Given the description of an element on the screen output the (x, y) to click on. 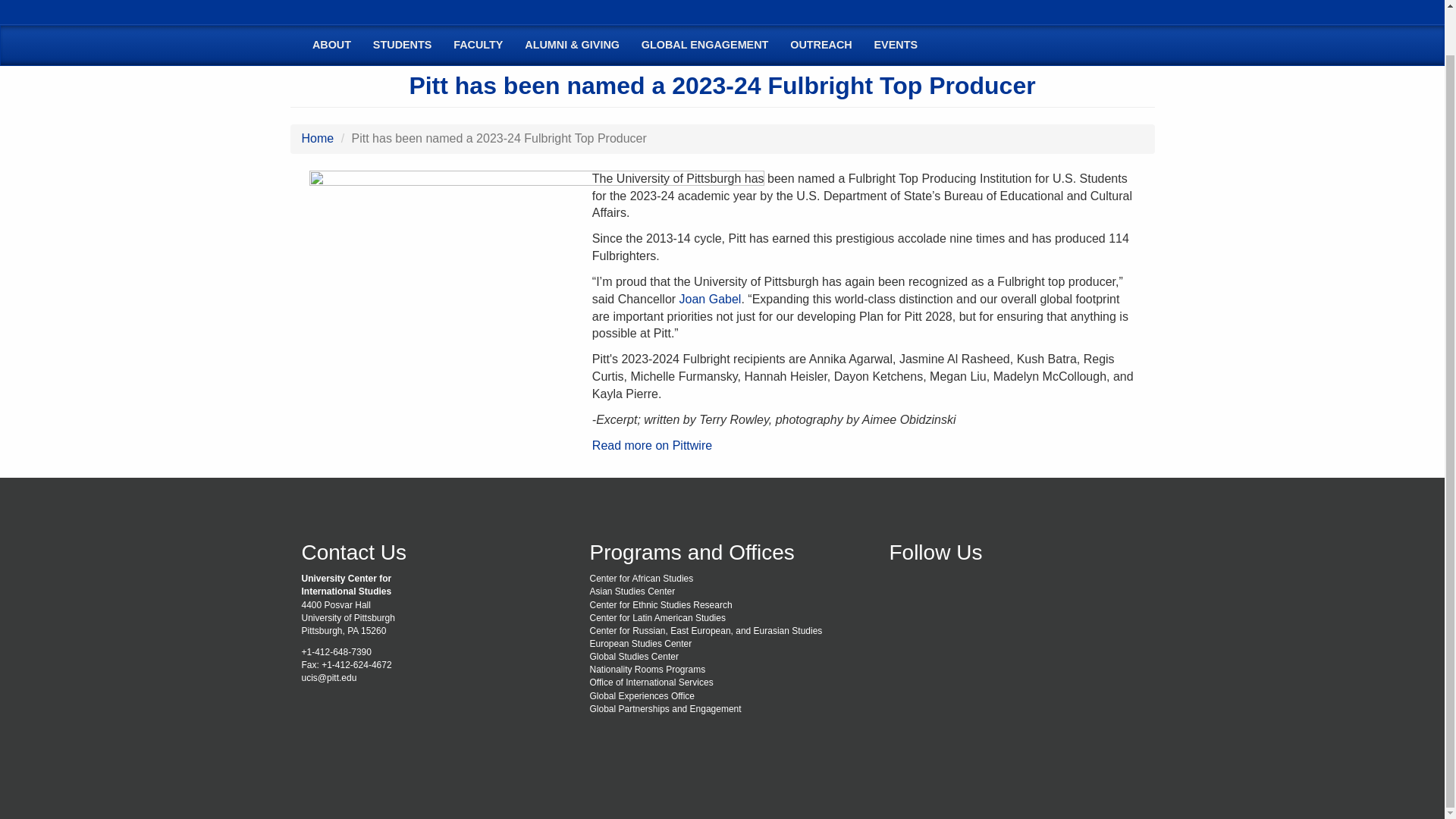
ABOUT (331, 45)
STUDENTS (401, 45)
FACULTY (477, 45)
